Given the description of an element on the screen output the (x, y) to click on. 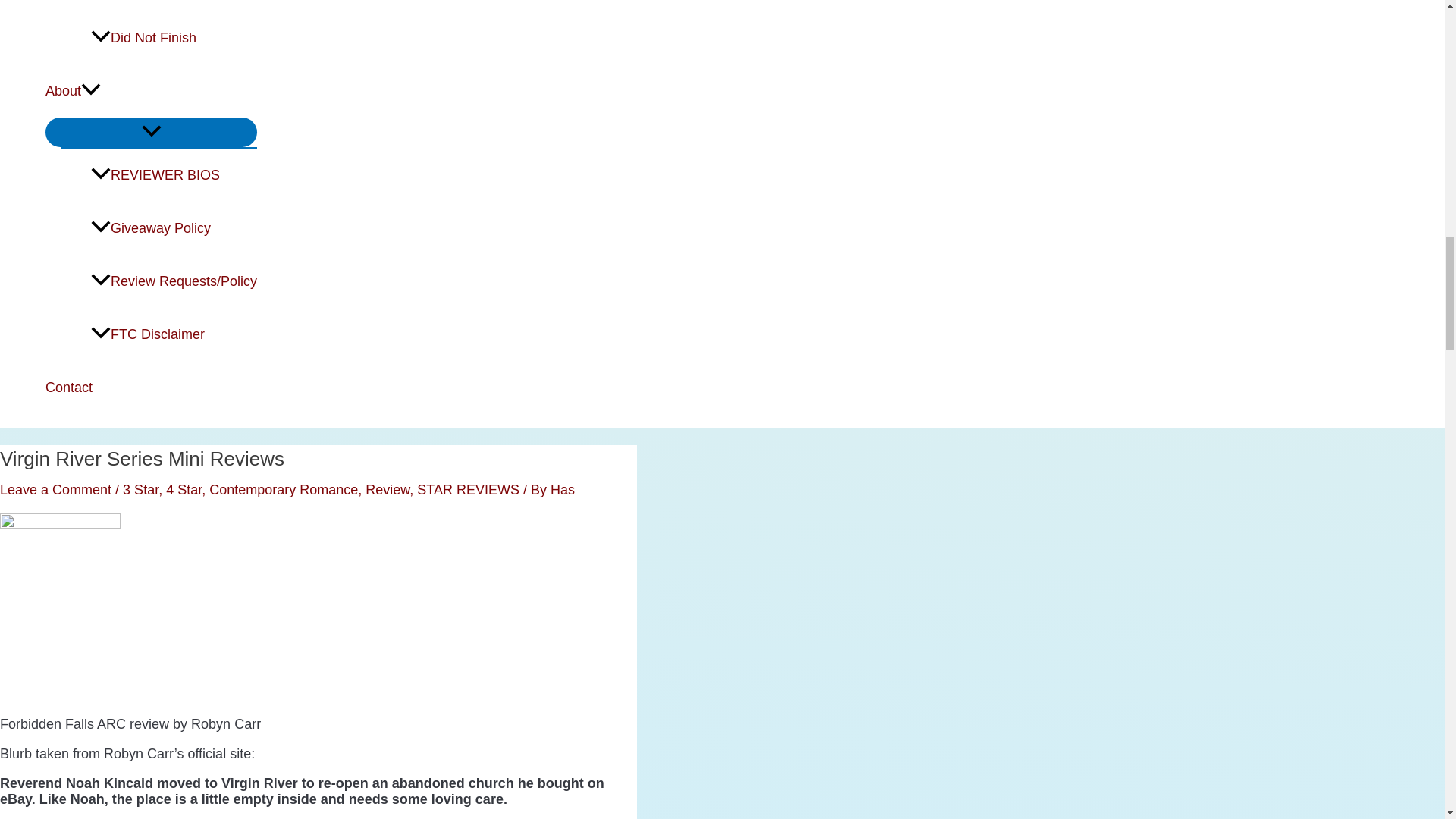
View all posts by Has (562, 489)
Menu Toggle (151, 132)
REVIEWER BIOS (173, 174)
Giveaway Policy (173, 227)
5 Star (196, 5)
About (151, 90)
Did Not Finish (173, 37)
